Given the description of an element on the screen output the (x, y) to click on. 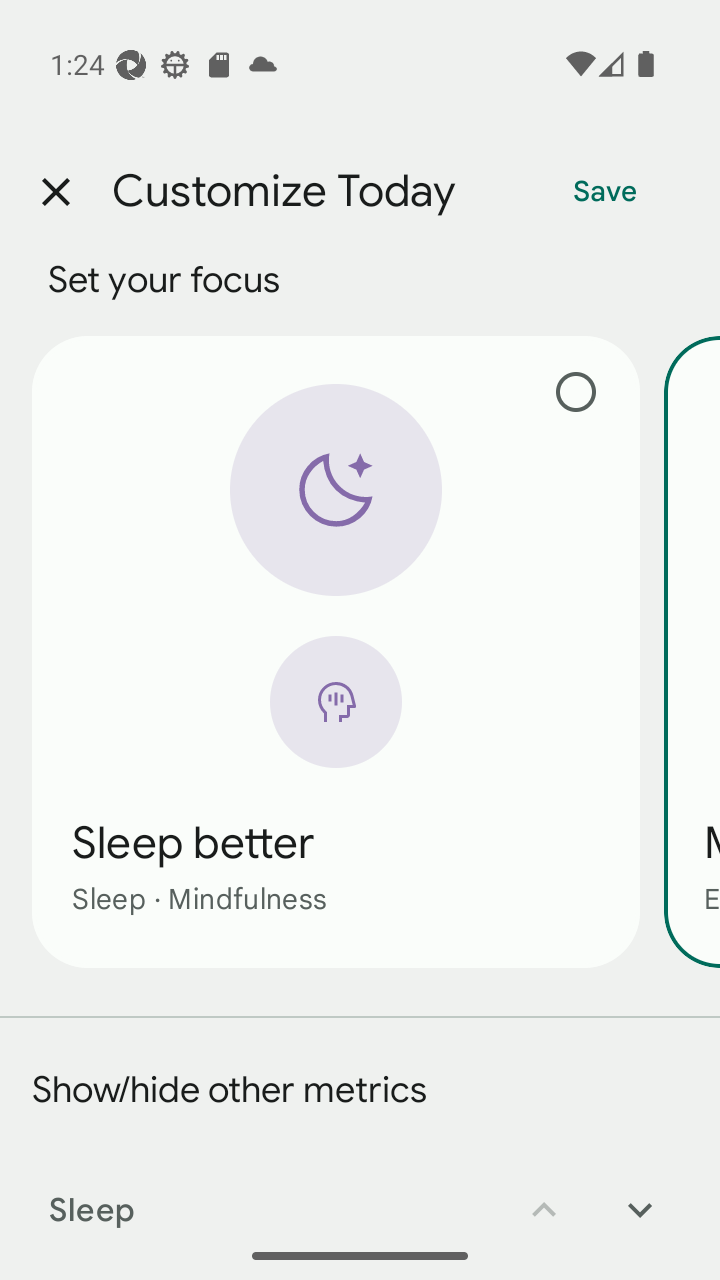
Close (55, 191)
Save (605, 191)
Sleep better Sleep · Mindfulness (335, 651)
Move Sleep up (543, 1196)
Move Sleep down (639, 1196)
